Given the description of an element on the screen output the (x, y) to click on. 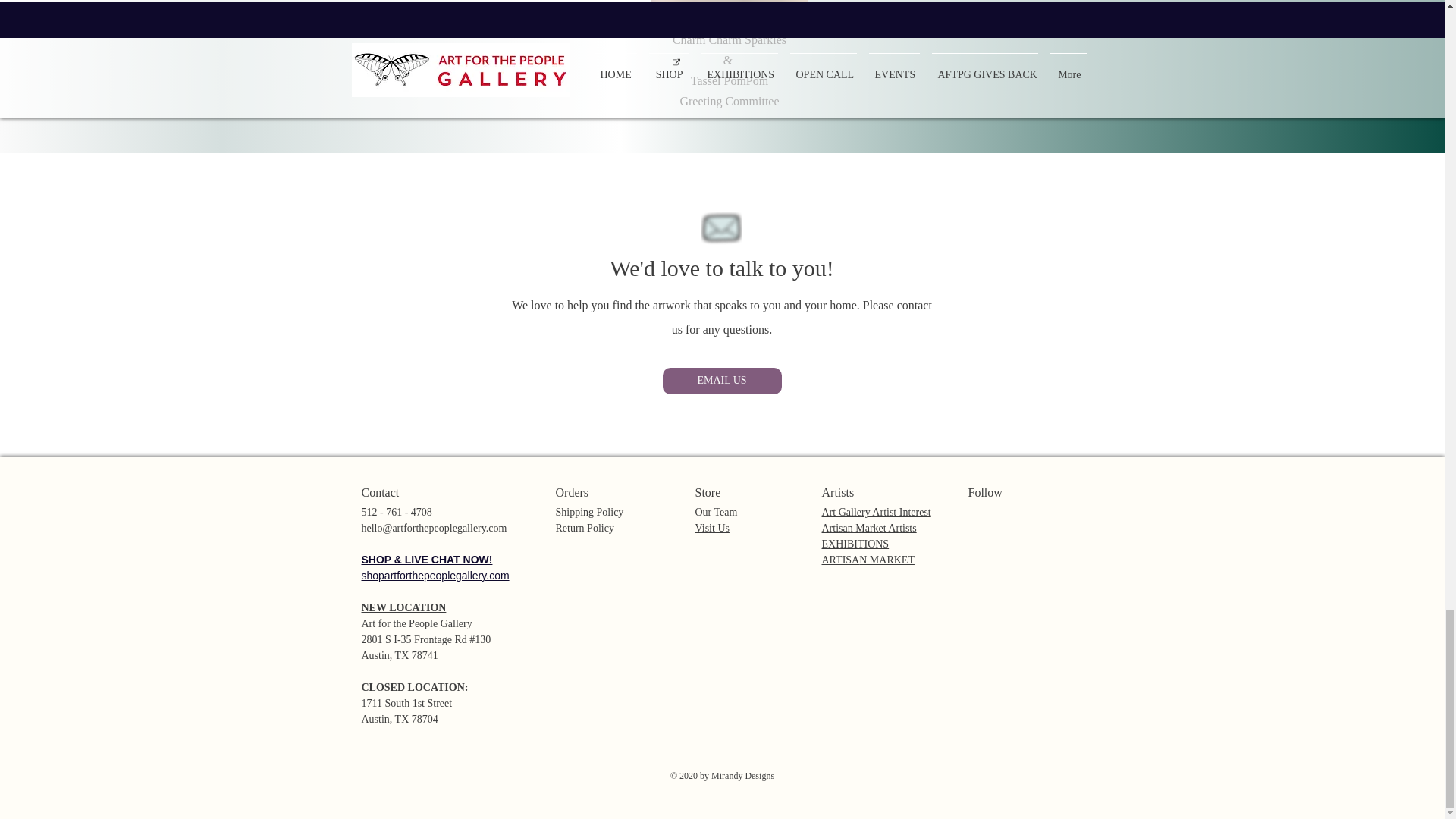
EMAIL US (721, 380)
ARTISAN MARKET (868, 559)
Art Gallery Artist Interest (876, 511)
Visit Us (711, 527)
Return Policy (583, 527)
Shipping Policy (588, 511)
shopartforthepeoplegallery.com (434, 575)
Artisan Market Artists (869, 527)
Our Team (715, 511)
EXHIBITIONS (855, 543)
